Given the description of an element on the screen output the (x, y) to click on. 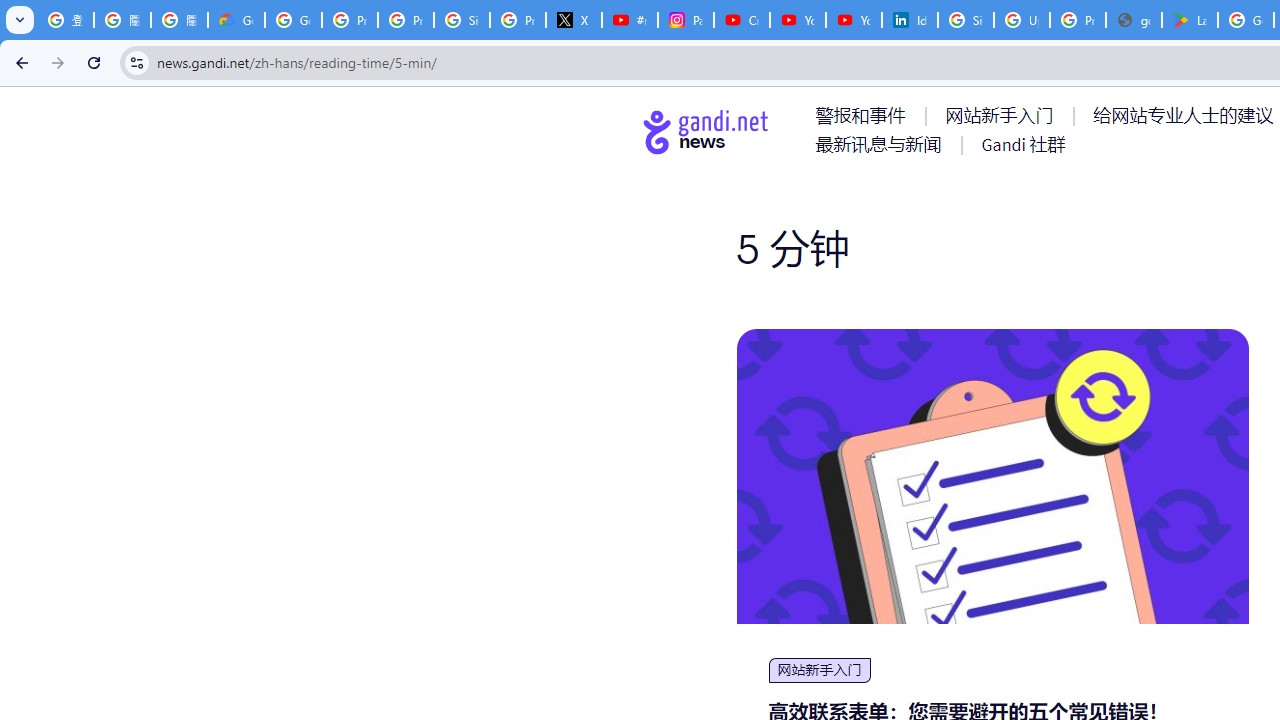
Identity verification via Persona | LinkedIn Help (909, 20)
#nbabasketballhighlights - YouTube (629, 20)
YouTube Culture & Trends - YouTube Top 10, 2021 (853, 20)
Privacy Help Center - Policies Help (405, 20)
AutomationID: menu-item-77767 (1022, 143)
AutomationID: menu-item-77762 (1003, 115)
